Given the description of an element on the screen output the (x, y) to click on. 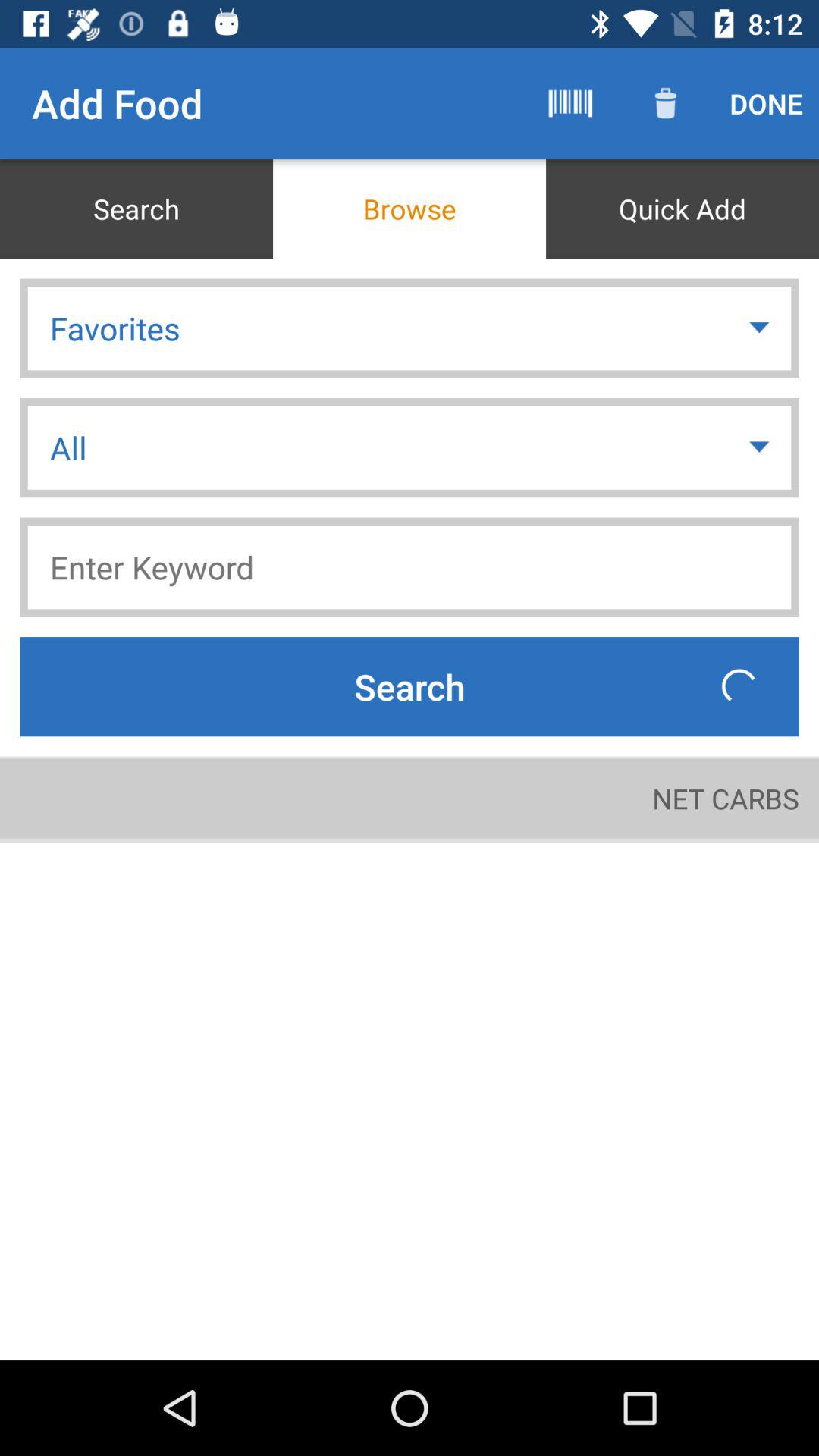
click the done icon (766, 103)
